Given the description of an element on the screen output the (x, y) to click on. 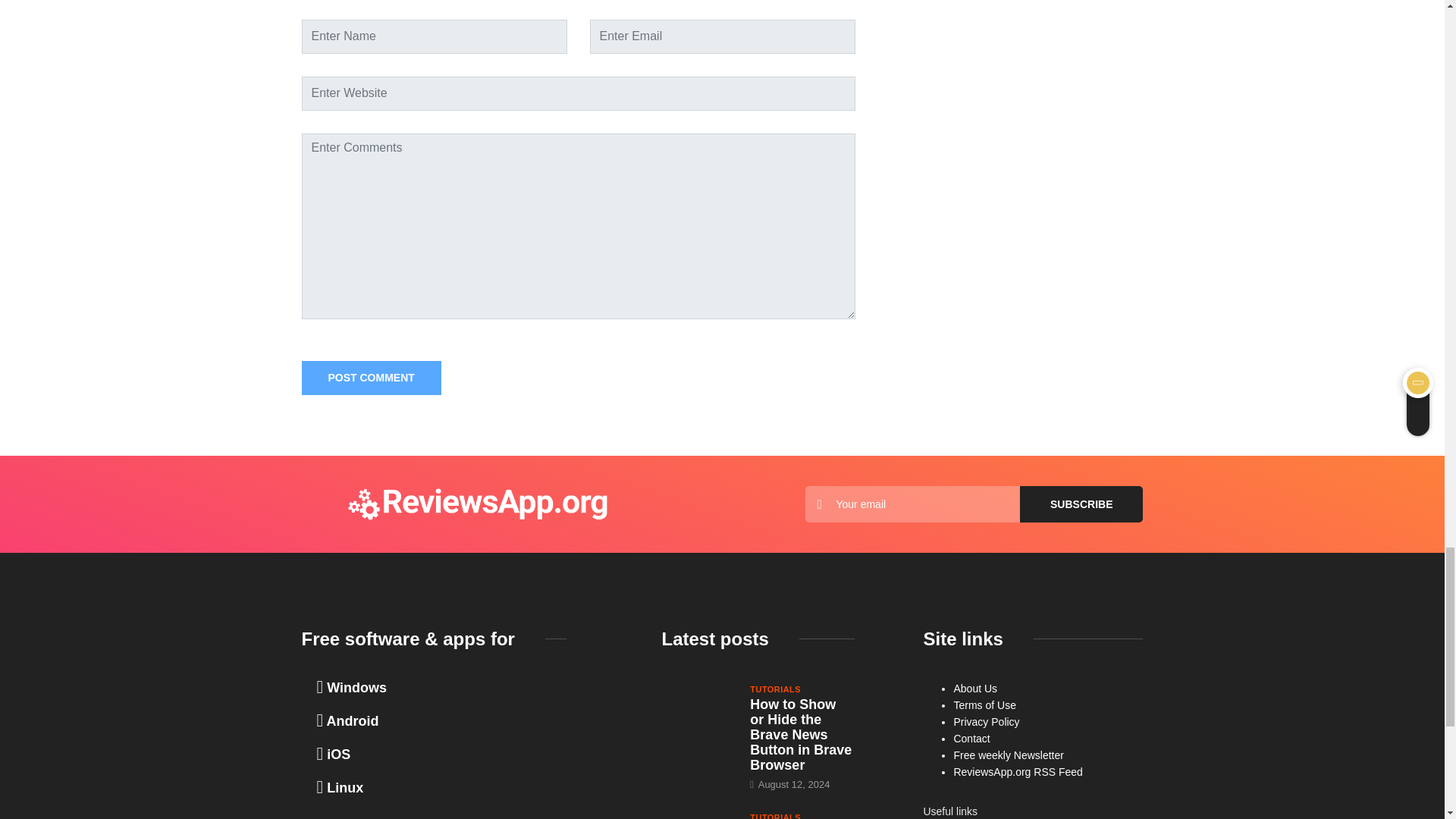
Free software for Linux (340, 787)
Post Comment (371, 377)
Free apps for Android (347, 720)
Free apps for iOS (333, 754)
Free software for Windows (352, 687)
Subscribe (1081, 504)
